Given the description of an element on the screen output the (x, y) to click on. 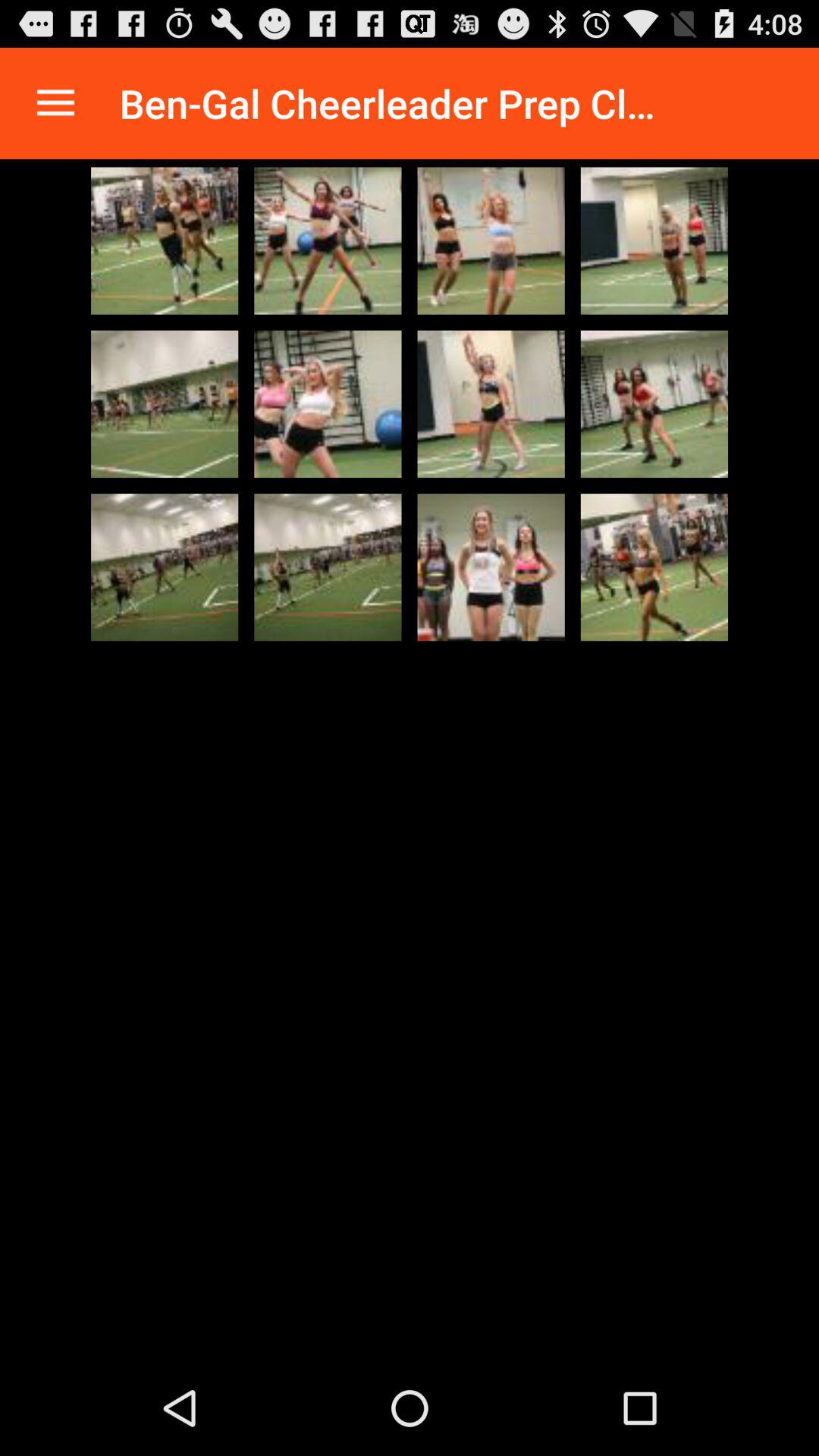
open image (490, 403)
